Given the description of an element on the screen output the (x, y) to click on. 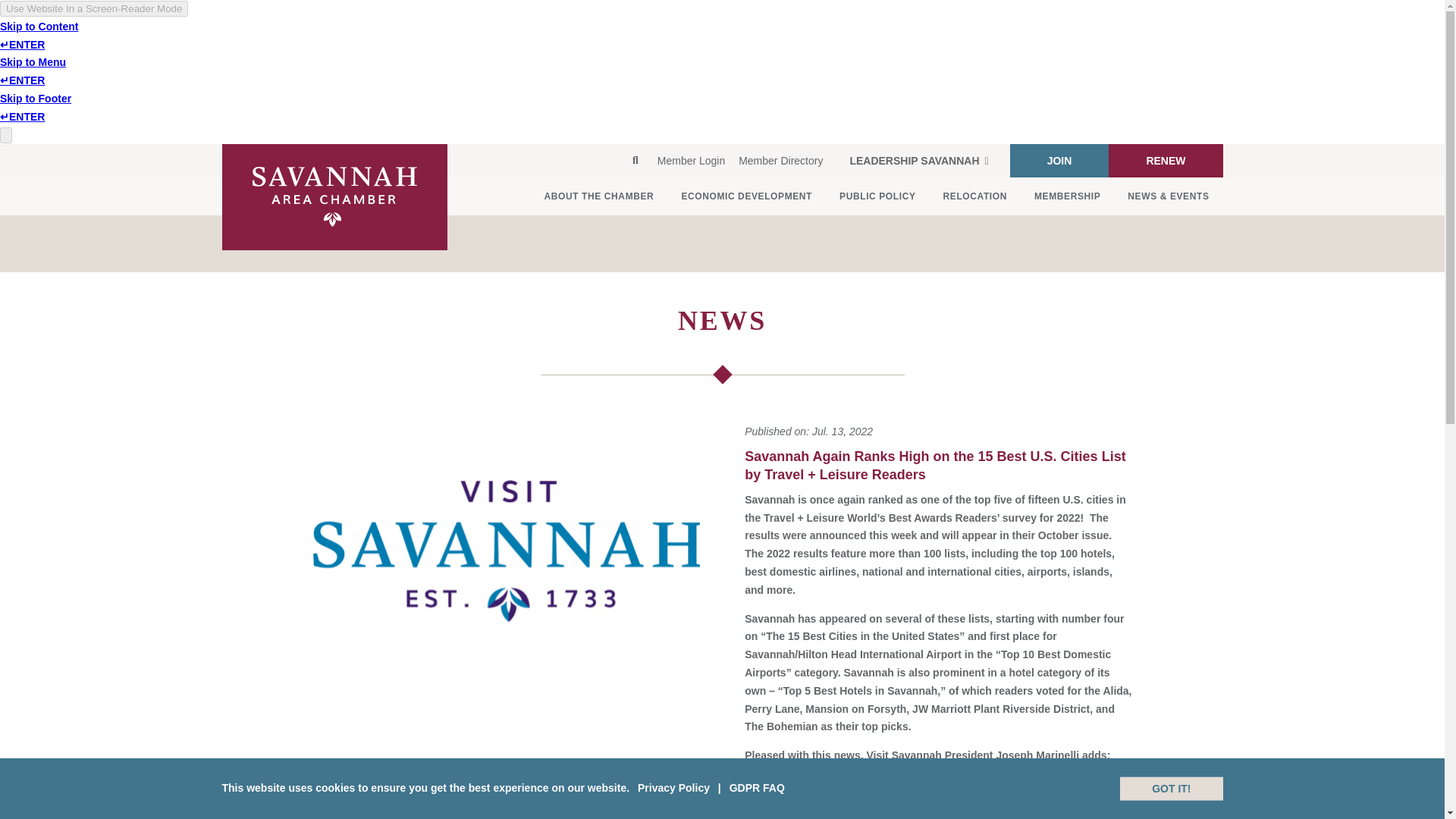
ECONOMIC DEVELOPMENT (745, 196)
PUBLIC POLICY (876, 196)
RENEW (1165, 160)
Member Directory (780, 160)
Member Login (691, 160)
ABOUT THE CHAMBER (599, 196)
JOIN (1059, 160)
LEADERSHIP SAVANNAH (918, 160)
